Given the description of an element on the screen output the (x, y) to click on. 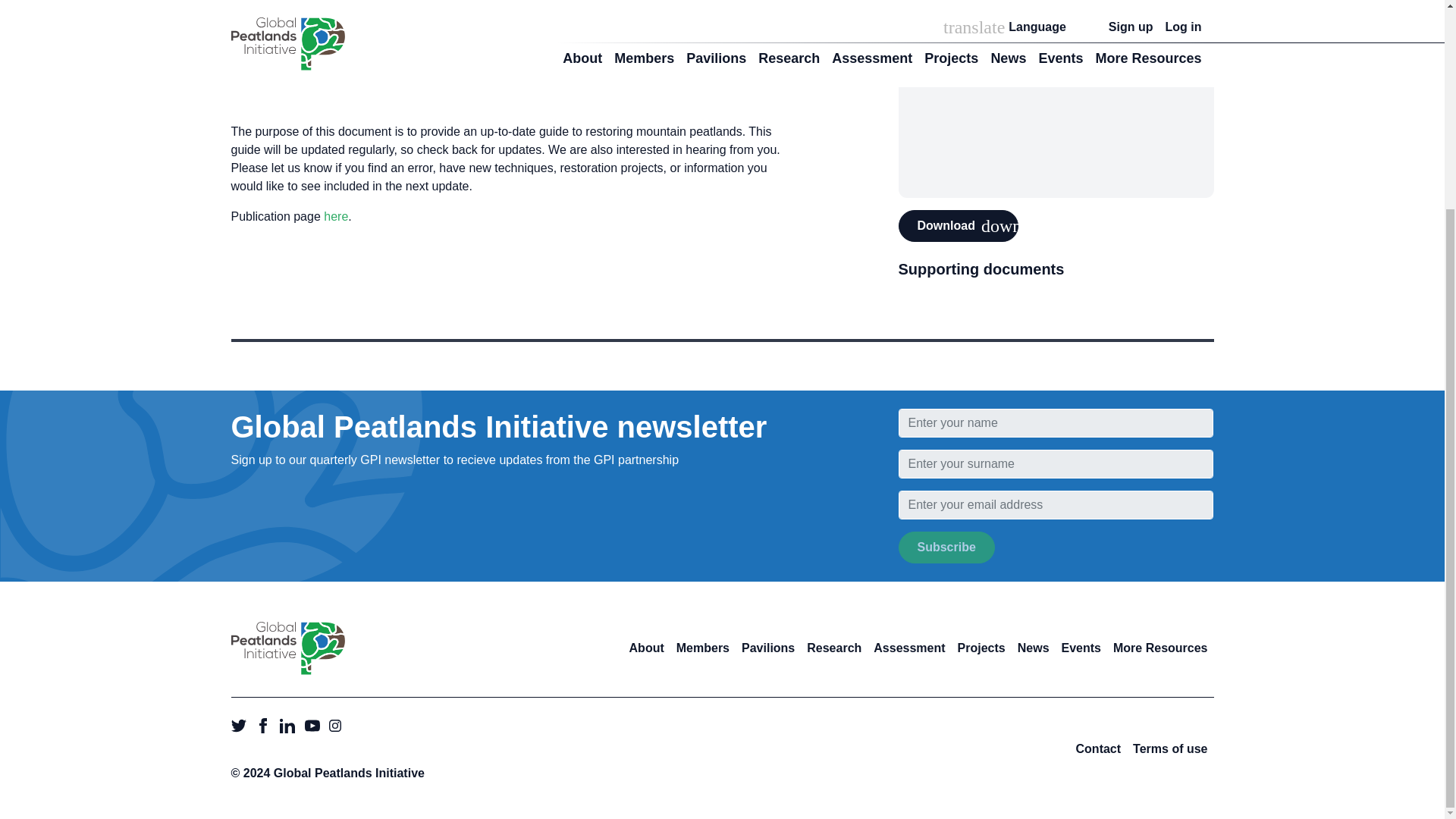
Research (833, 648)
Events (1080, 648)
YouTube (313, 724)
Projects (981, 648)
Subscribe (946, 547)
About (646, 648)
Members (702, 648)
here (335, 215)
Linkedin (288, 724)
News (1033, 648)
